Given the description of an element on the screen output the (x, y) to click on. 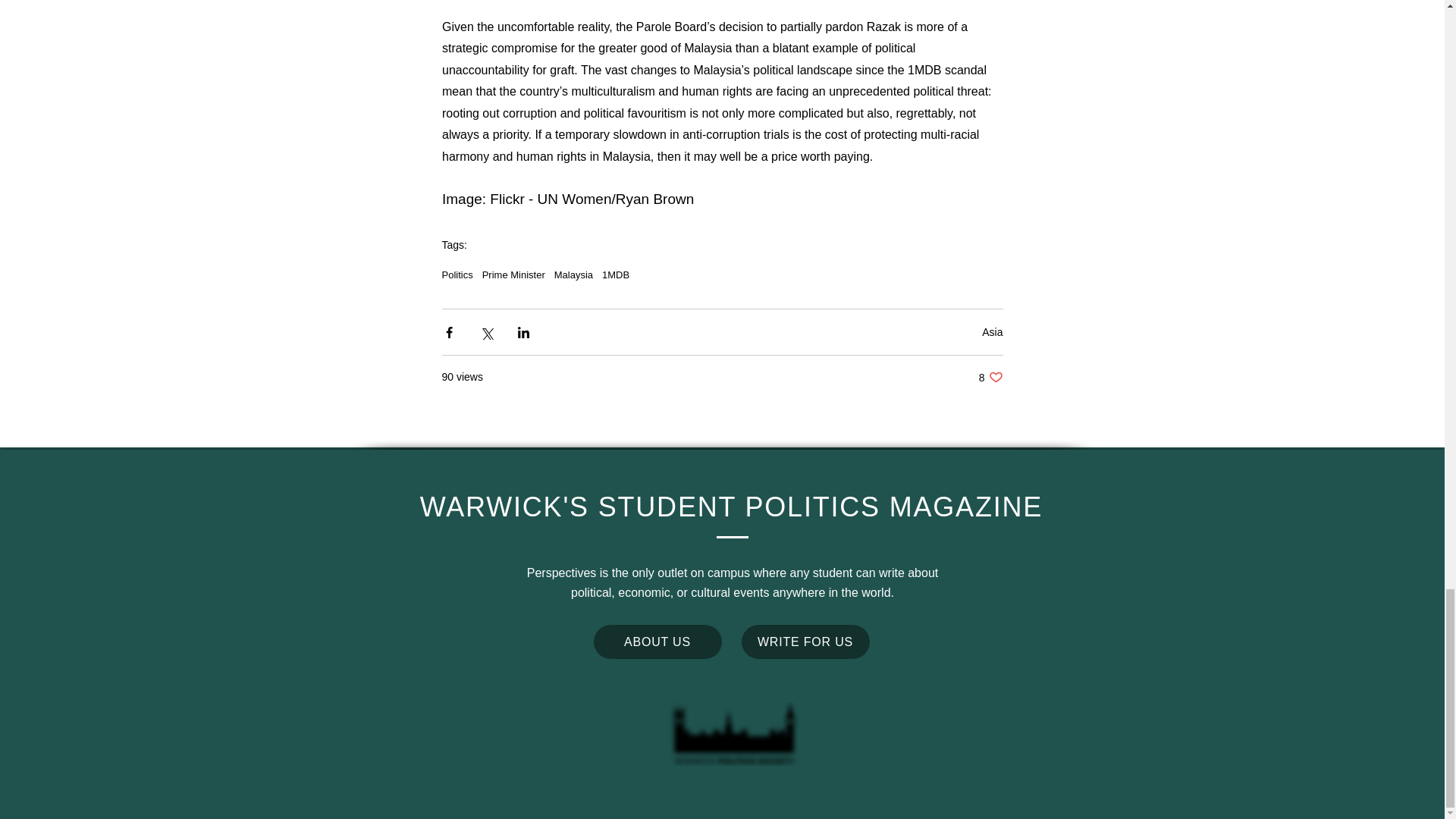
WRITE FOR US (805, 641)
Malaysia (573, 274)
Politics (456, 274)
Prime Minister (512, 274)
ABOUT US (990, 377)
Asia (656, 641)
1MDB (992, 331)
